Given the description of an element on the screen output the (x, y) to click on. 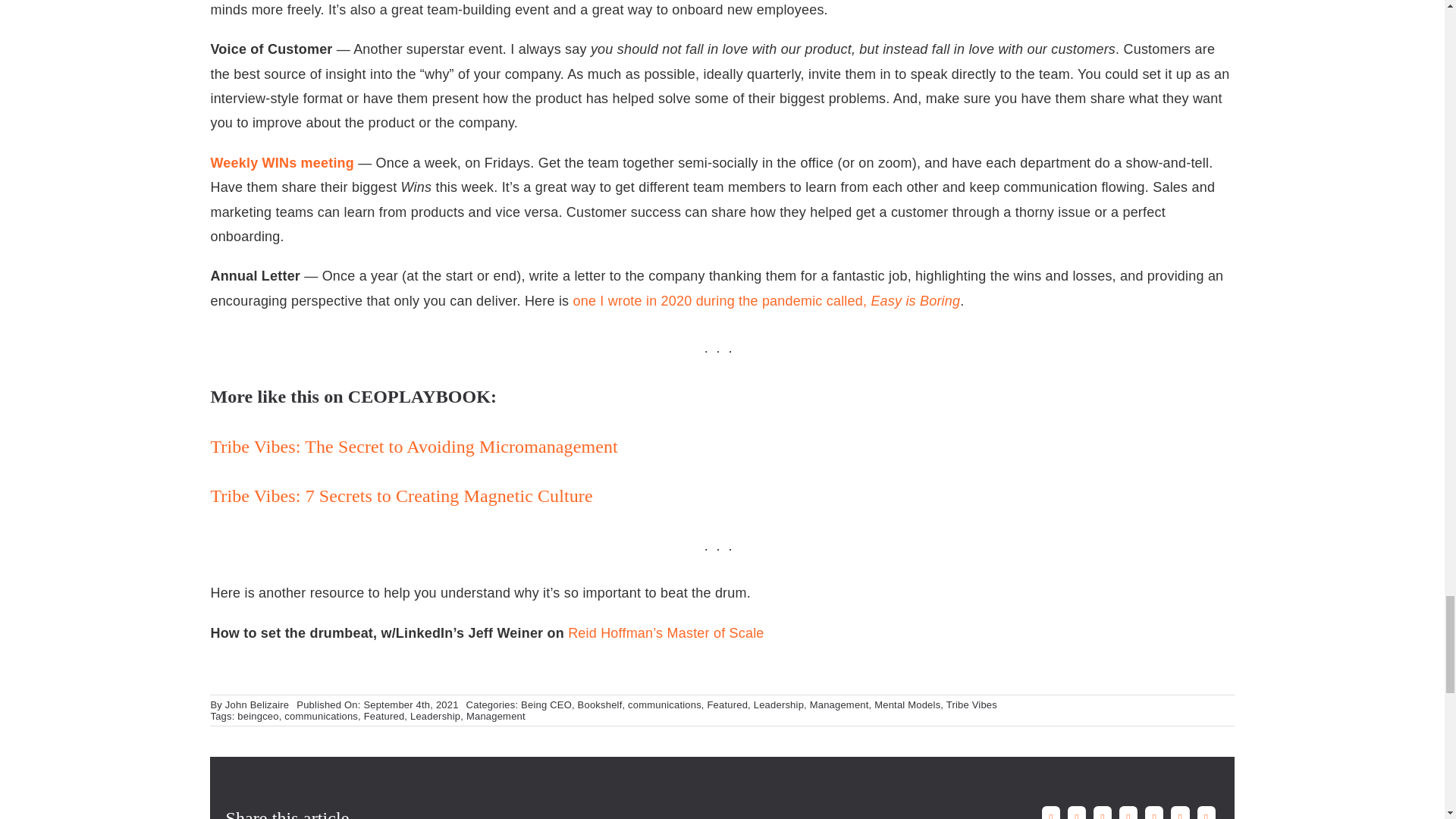
Pinterest (1179, 810)
Posts by John Belizaire (256, 704)
X (1076, 810)
LinkedIn (1128, 810)
Reddit (1102, 810)
Management (839, 704)
Bookshelf (600, 704)
communications (320, 715)
Tribe Vibes (971, 704)
Facebook (1051, 810)
